Given the description of an element on the screen output the (x, y) to click on. 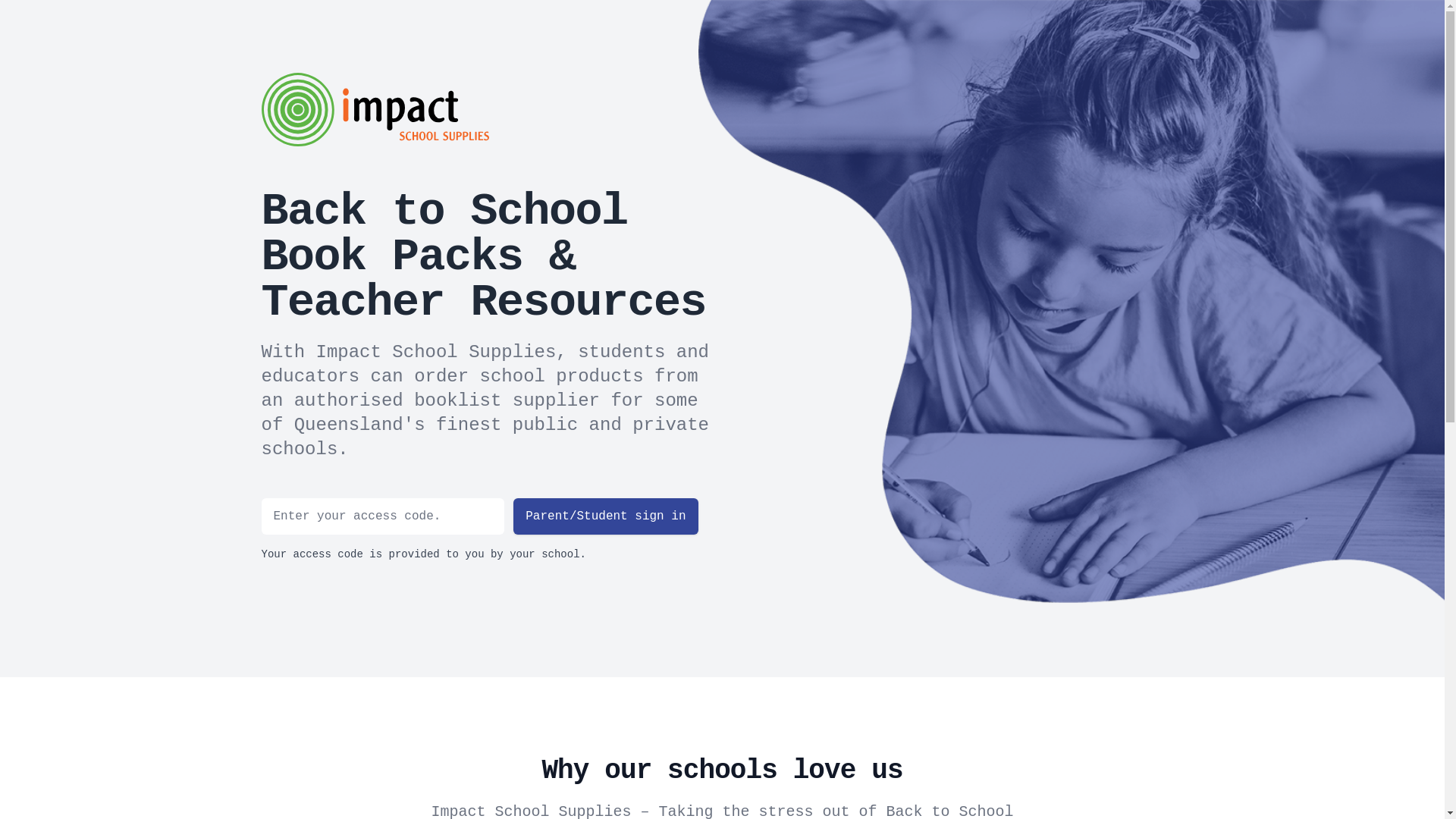
Parent/Student sign in Element type: text (605, 516)
